Given the description of an element on the screen output the (x, y) to click on. 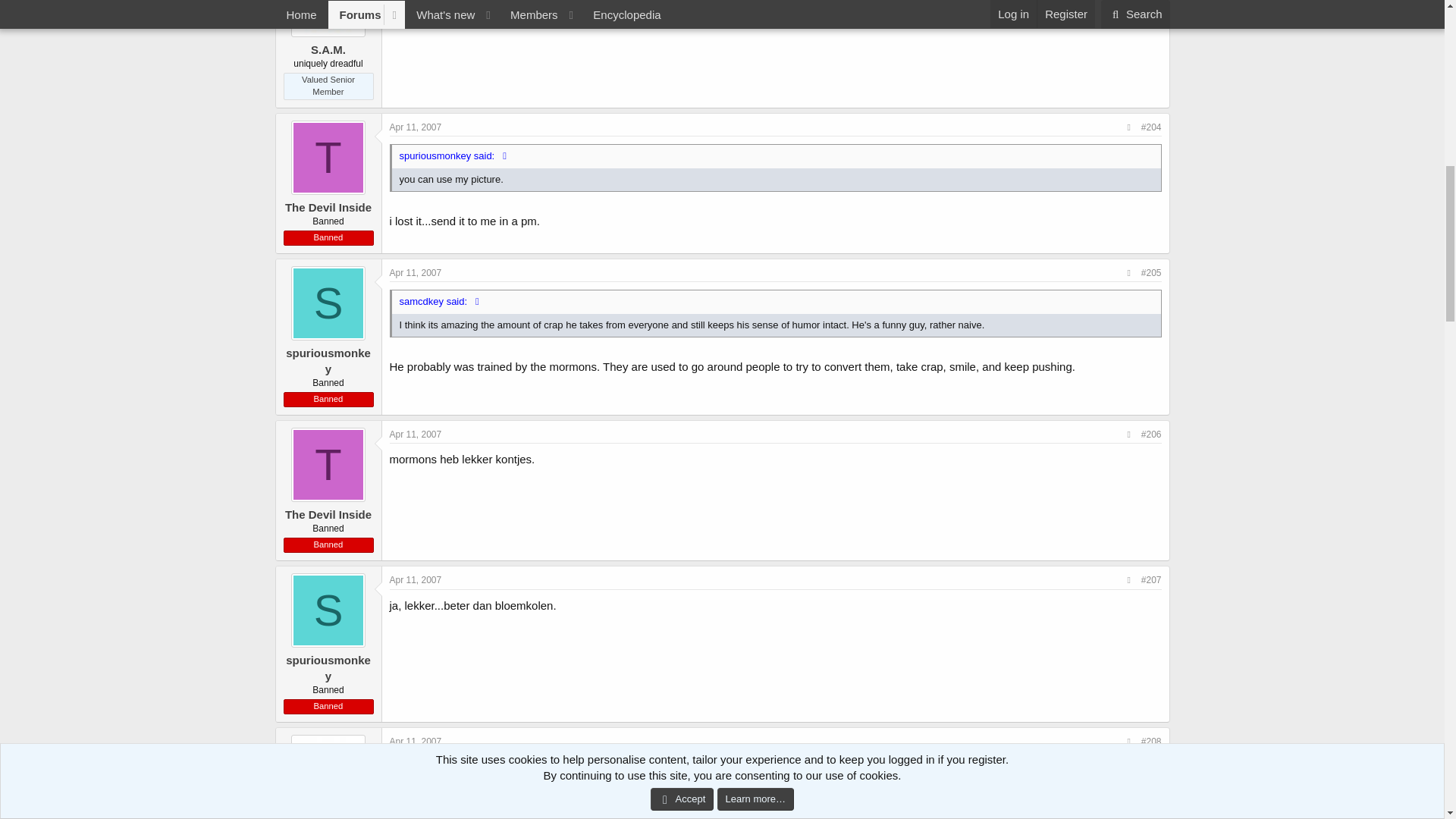
Apr 11, 2007 at 4:47 PM (416, 579)
Apr 11, 2007 at 4:48 PM (416, 741)
Apr 11, 2007 at 4:45 PM (416, 127)
Apr 11, 2007 at 4:46 PM (416, 272)
Apr 11, 2007 at 4:47 PM (416, 434)
